Given the description of an element on the screen output the (x, y) to click on. 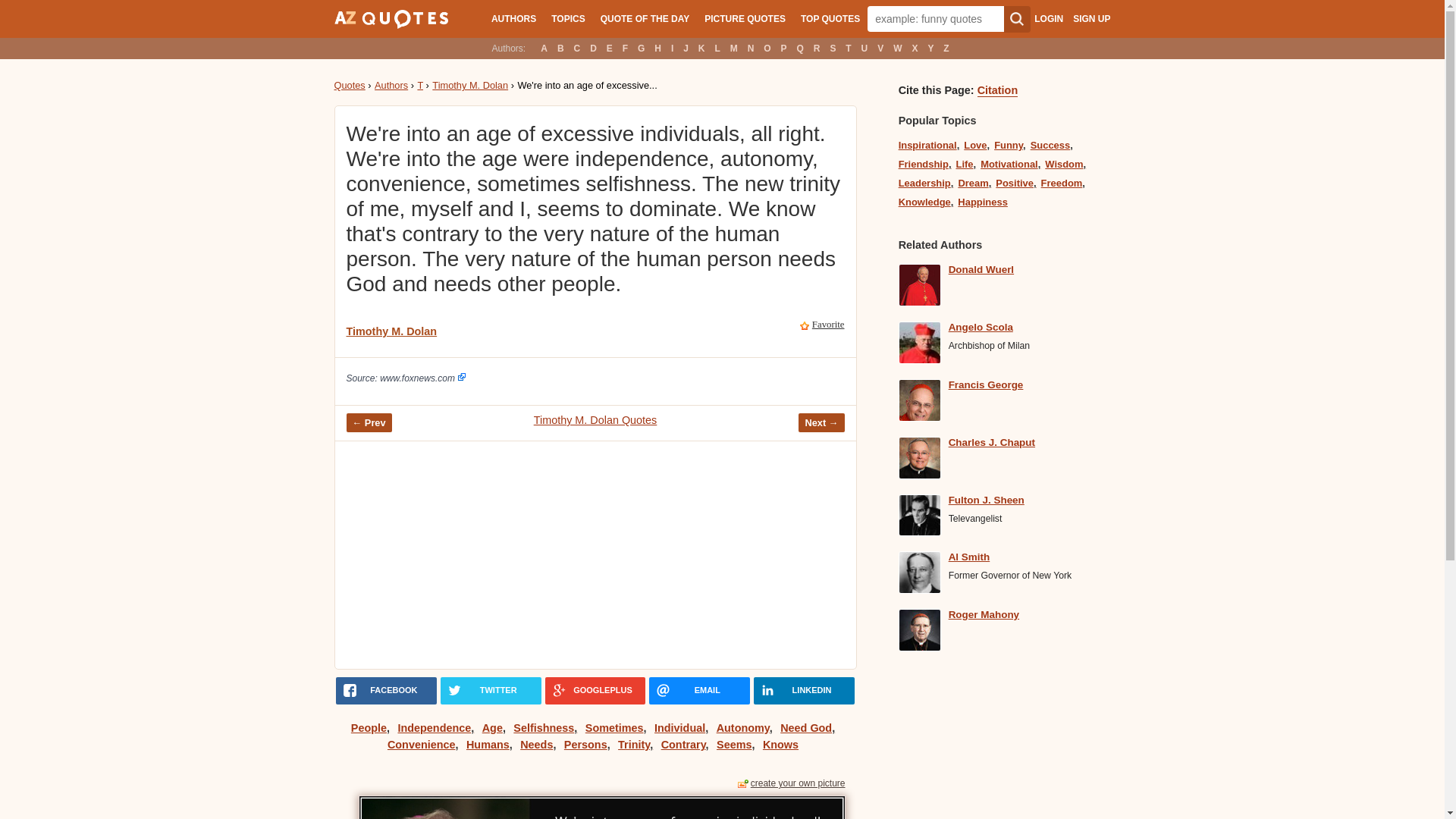
QUOTE OF THE DAY (644, 18)
Quotes (349, 84)
TOPICS (567, 18)
SIGN UP (1091, 18)
AUTHORS (513, 18)
TOP QUOTES (830, 18)
LOGIN (1047, 18)
Advertisement (610, 554)
PICTURE QUOTES (745, 18)
